Given the description of an element on the screen output the (x, y) to click on. 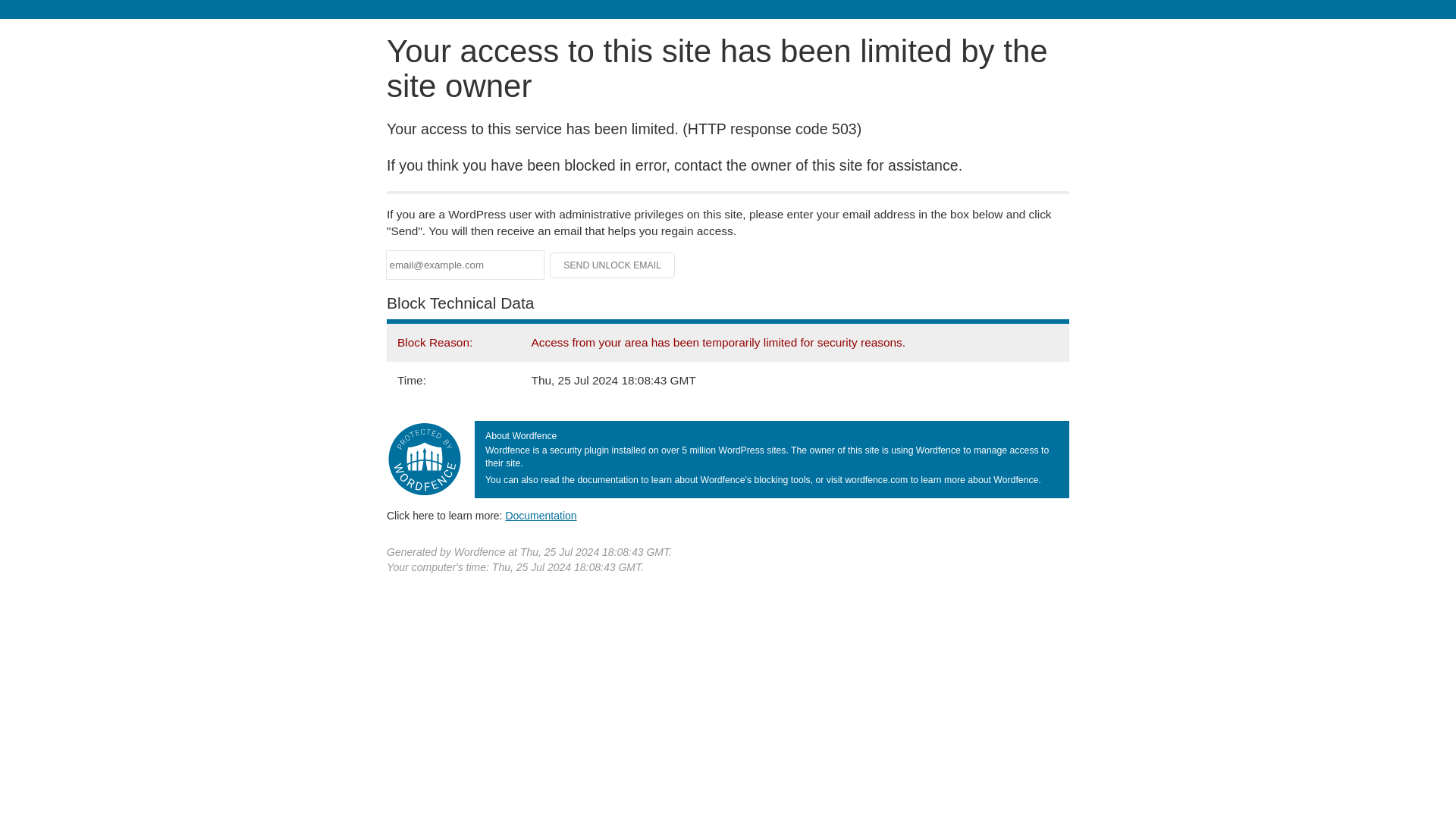
Documentation (540, 515)
Send Unlock Email (612, 265)
Send Unlock Email (612, 265)
